Given the description of an element on the screen output the (x, y) to click on. 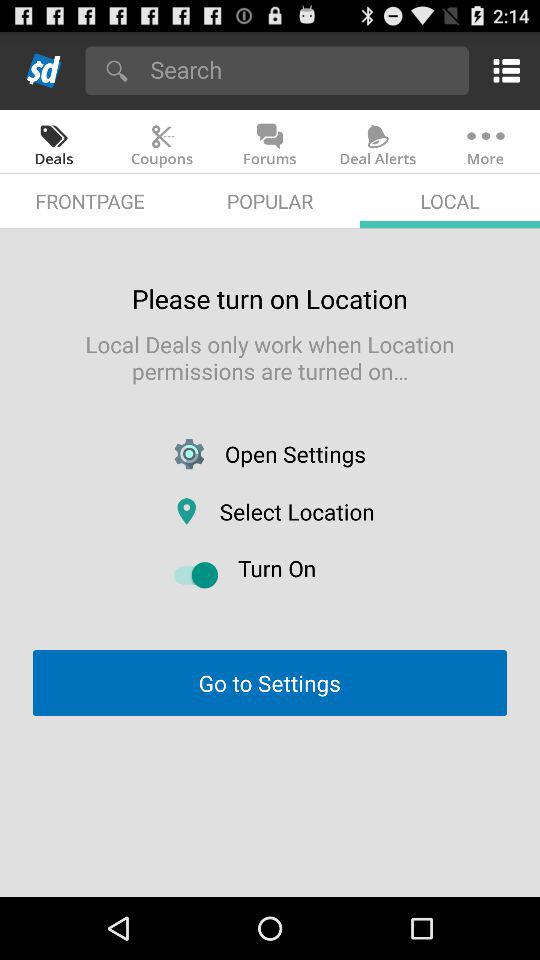
main page (44, 70)
